Given the description of an element on the screen output the (x, y) to click on. 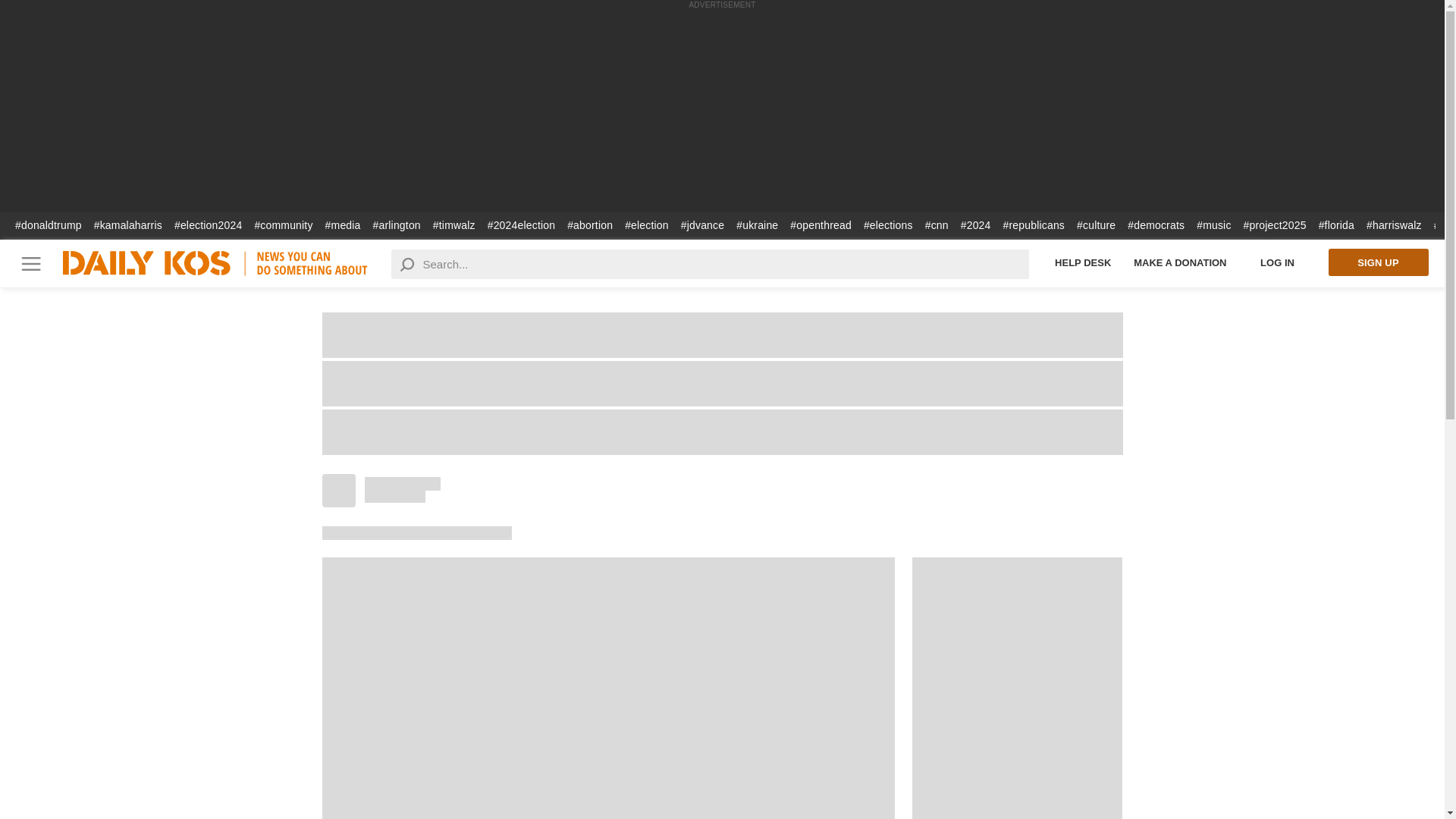
Make a Donation (1179, 262)
Help Desk (1082, 262)
MAKE A DONATION (1179, 262)
